Given the description of an element on the screen output the (x, y) to click on. 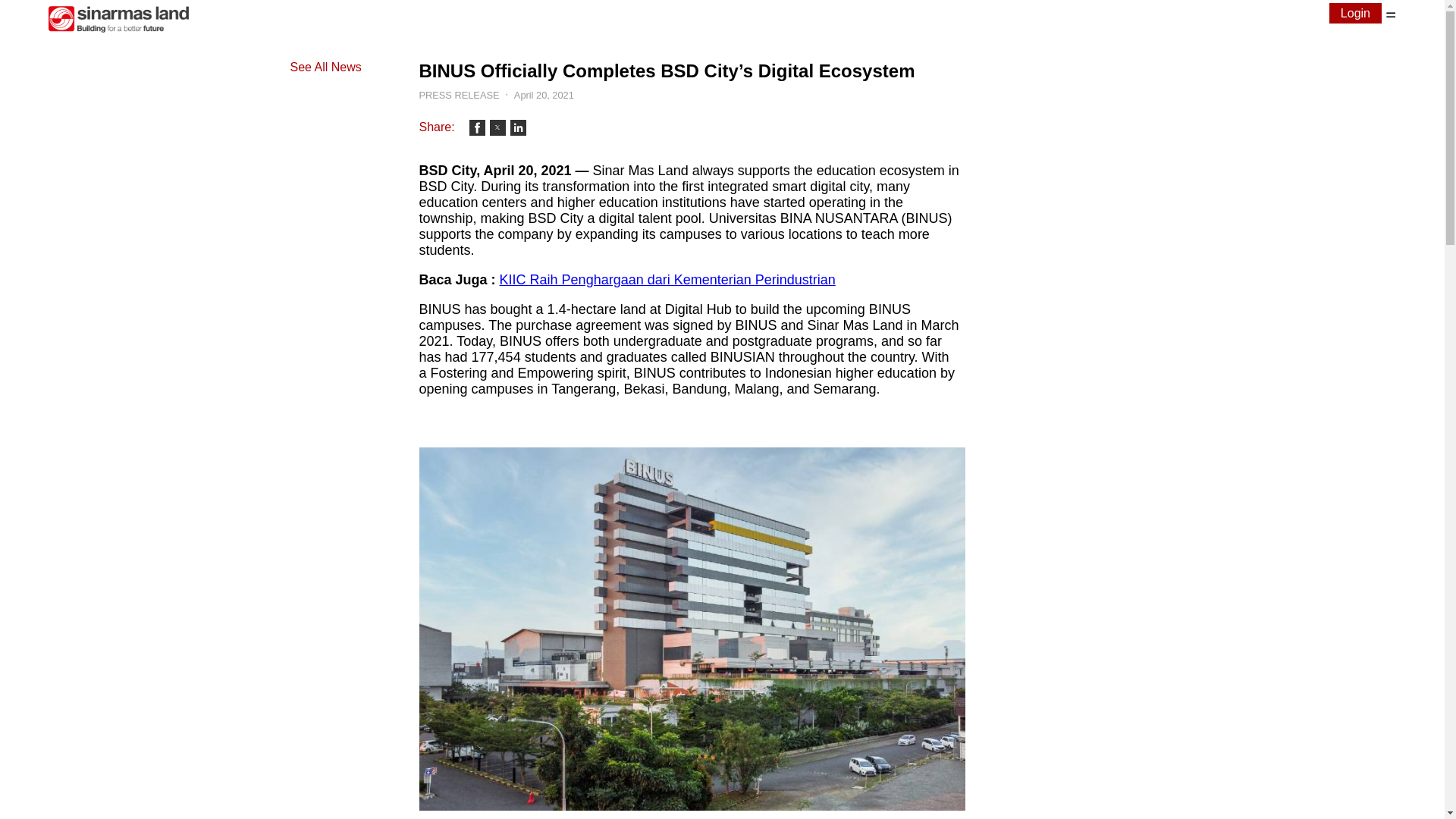
Login (1355, 13)
KIIC Raih Penghargaan dari Kementerian Perindustrian (667, 279)
See All News (325, 66)
